Given the description of an element on the screen output the (x, y) to click on. 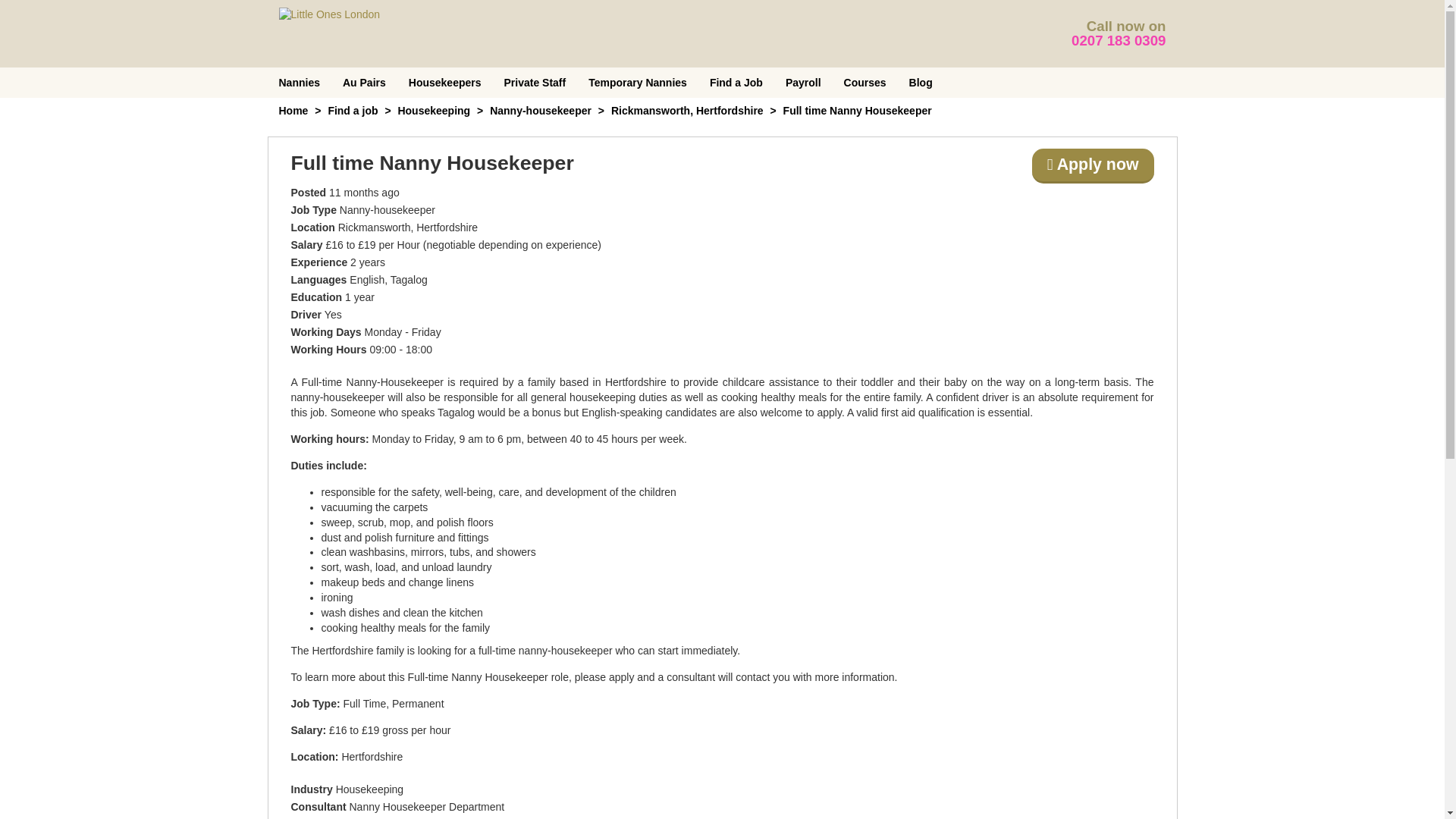
Au Pairs (364, 82)
Housekeepers (445, 82)
Nannies (298, 82)
0207 183 0309 (1118, 40)
